Given the description of an element on the screen output the (x, y) to click on. 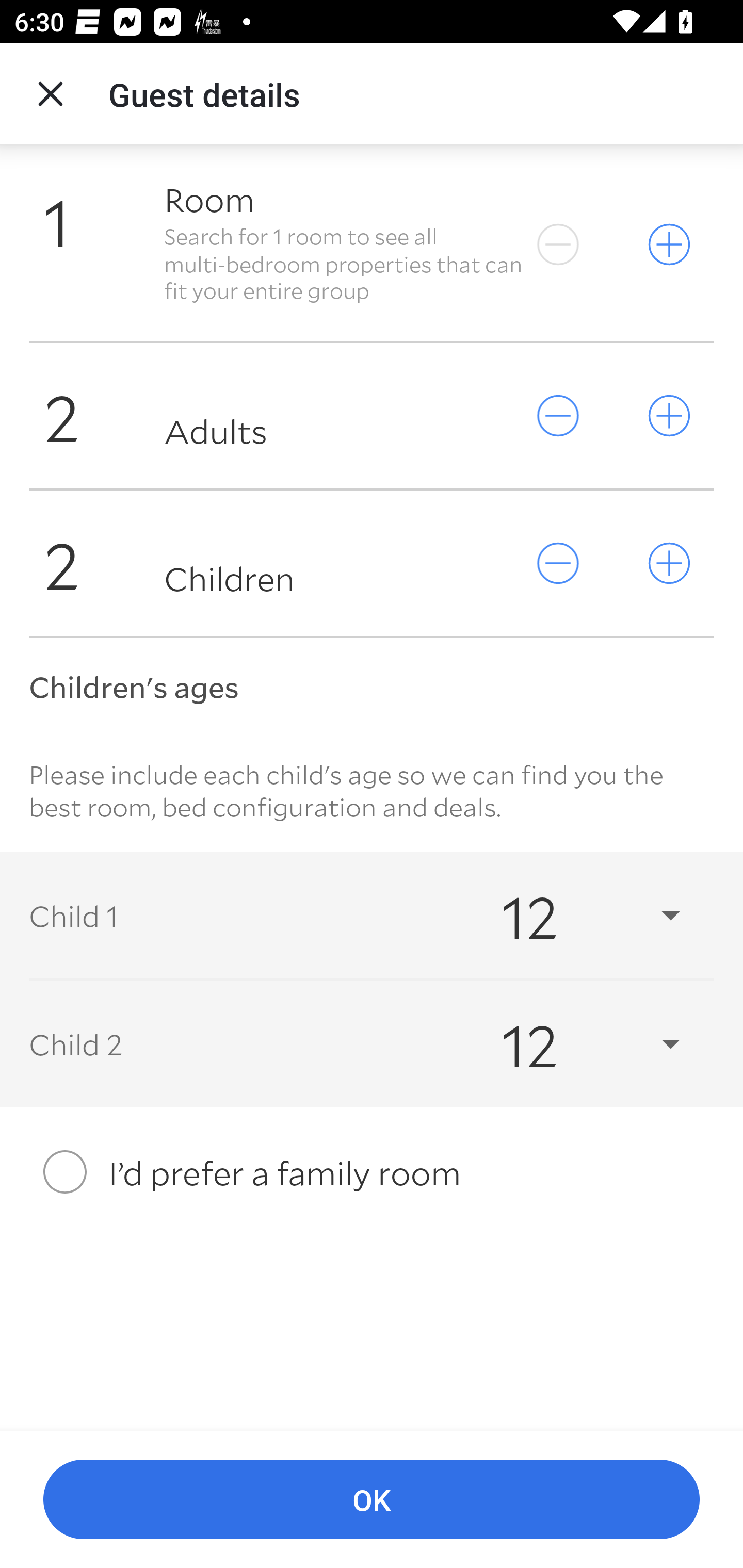
12 (573, 914)
12 (573, 1043)
I’d prefer a family room (371, 1172)
OK (371, 1499)
